Given the description of an element on the screen output the (x, y) to click on. 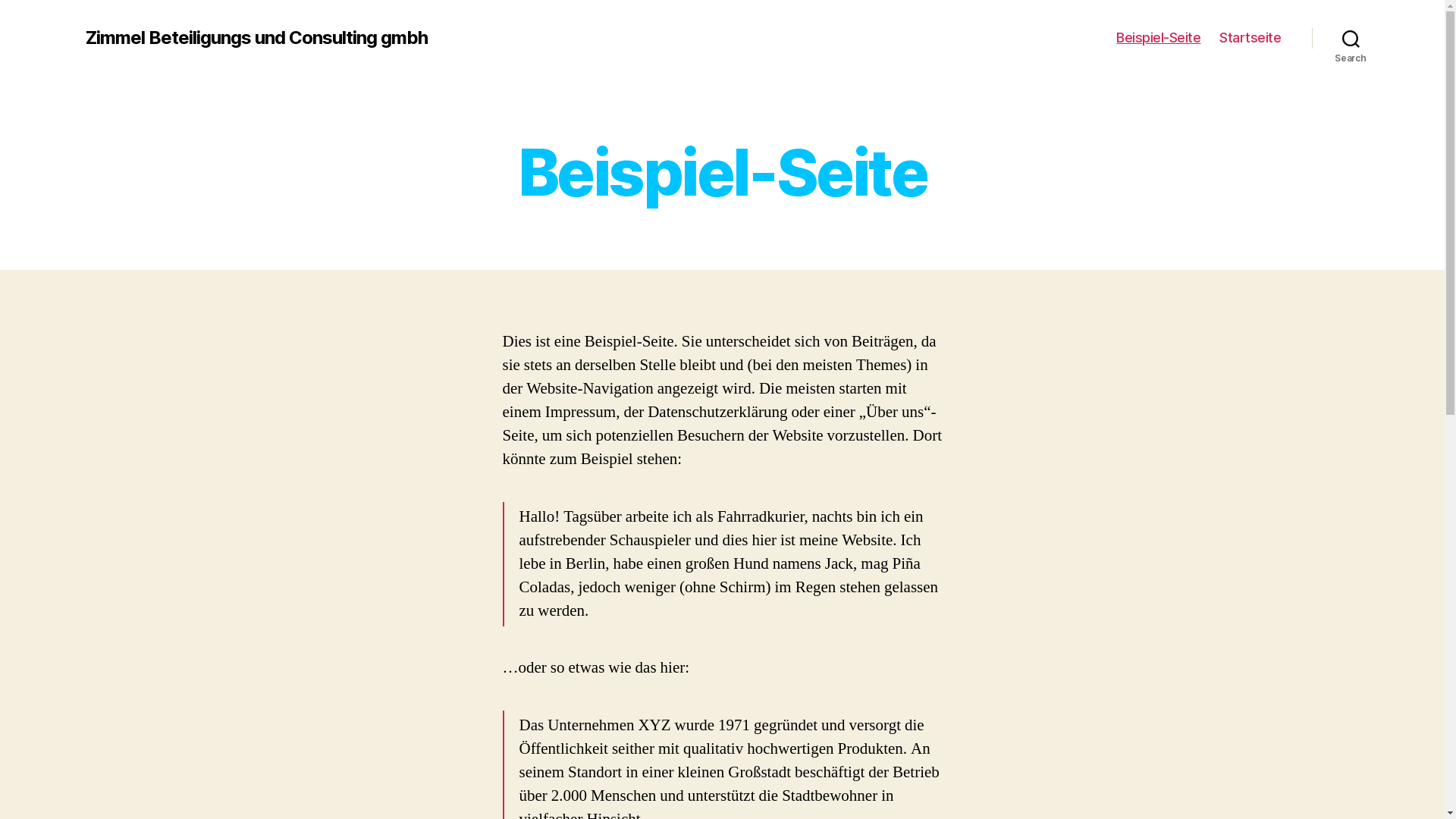
Search Element type: text (1350, 37)
Startseite Element type: text (1249, 37)
Beispiel-Seite Element type: text (1158, 37)
Zimmel Beteiligungs und Consulting gmbh Element type: text (255, 37)
